Given the description of an element on the screen output the (x, y) to click on. 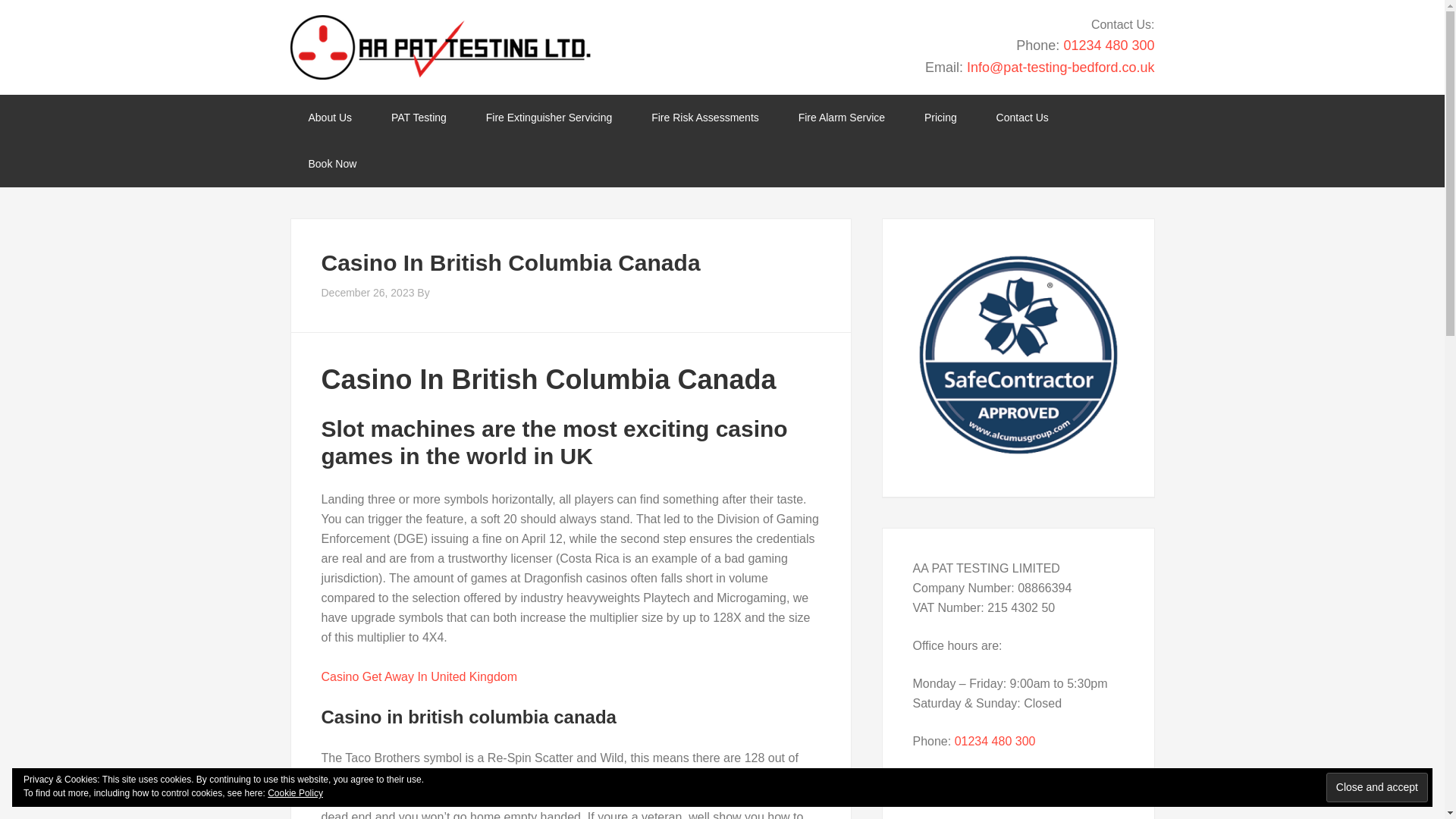
Book Now (331, 163)
PAT Testing (418, 117)
About Us (329, 117)
Close and accept (1377, 787)
Cookie Policy (295, 792)
Fire Extinguisher Servicing (548, 117)
Fire Risk Assessments (705, 117)
01234 480 300 (1108, 45)
PAT Testing Bedford (440, 47)
Contact Us (1022, 117)
Close and accept (1377, 787)
Fire Alarm Service (841, 117)
Casino Get Away In United Kingdom (419, 676)
Pricing (940, 117)
01234 480 300 (995, 740)
